Given the description of an element on the screen output the (x, y) to click on. 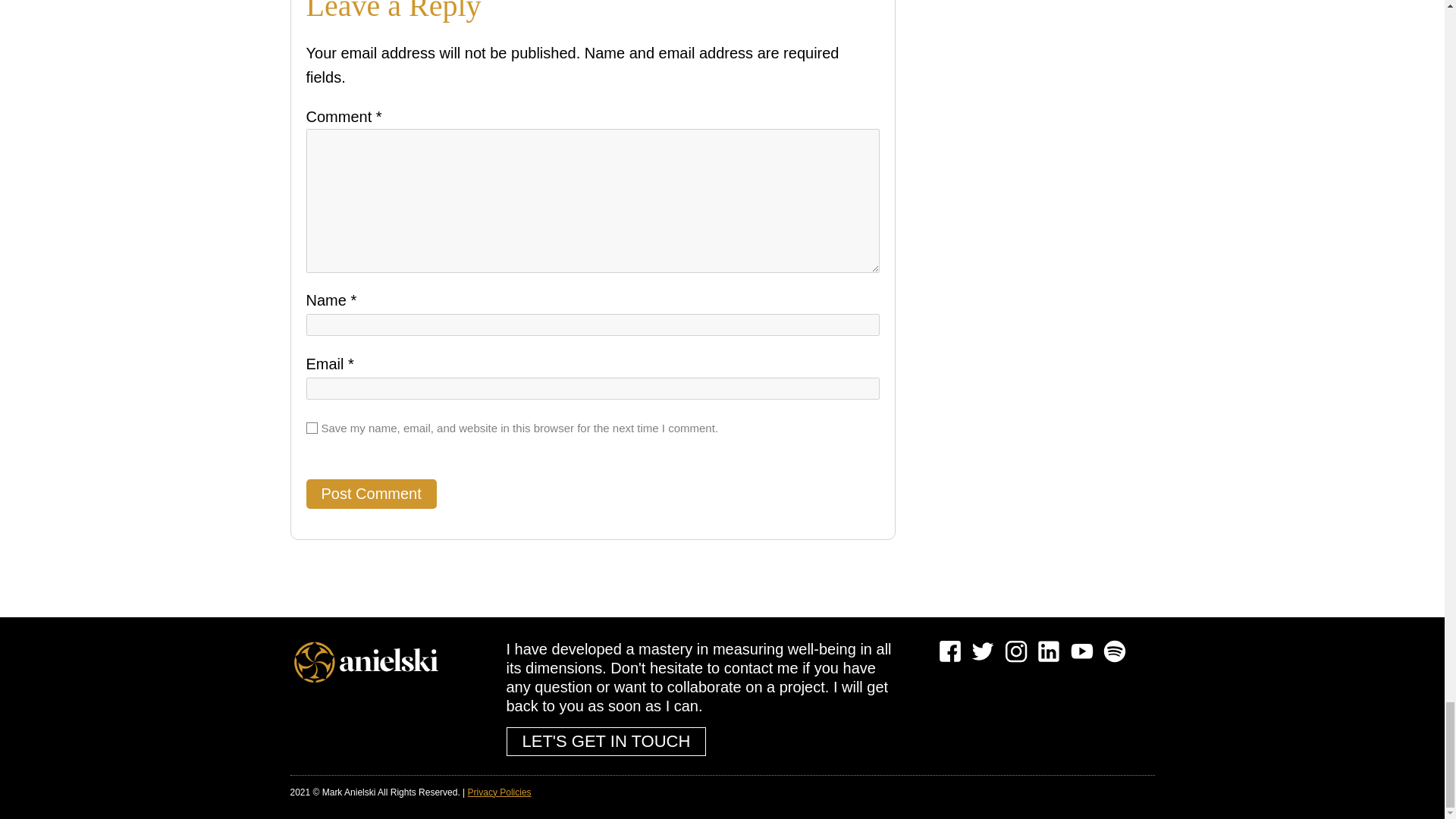
Post Comment (370, 493)
Post Comment (370, 493)
